Given the description of an element on the screen output the (x, y) to click on. 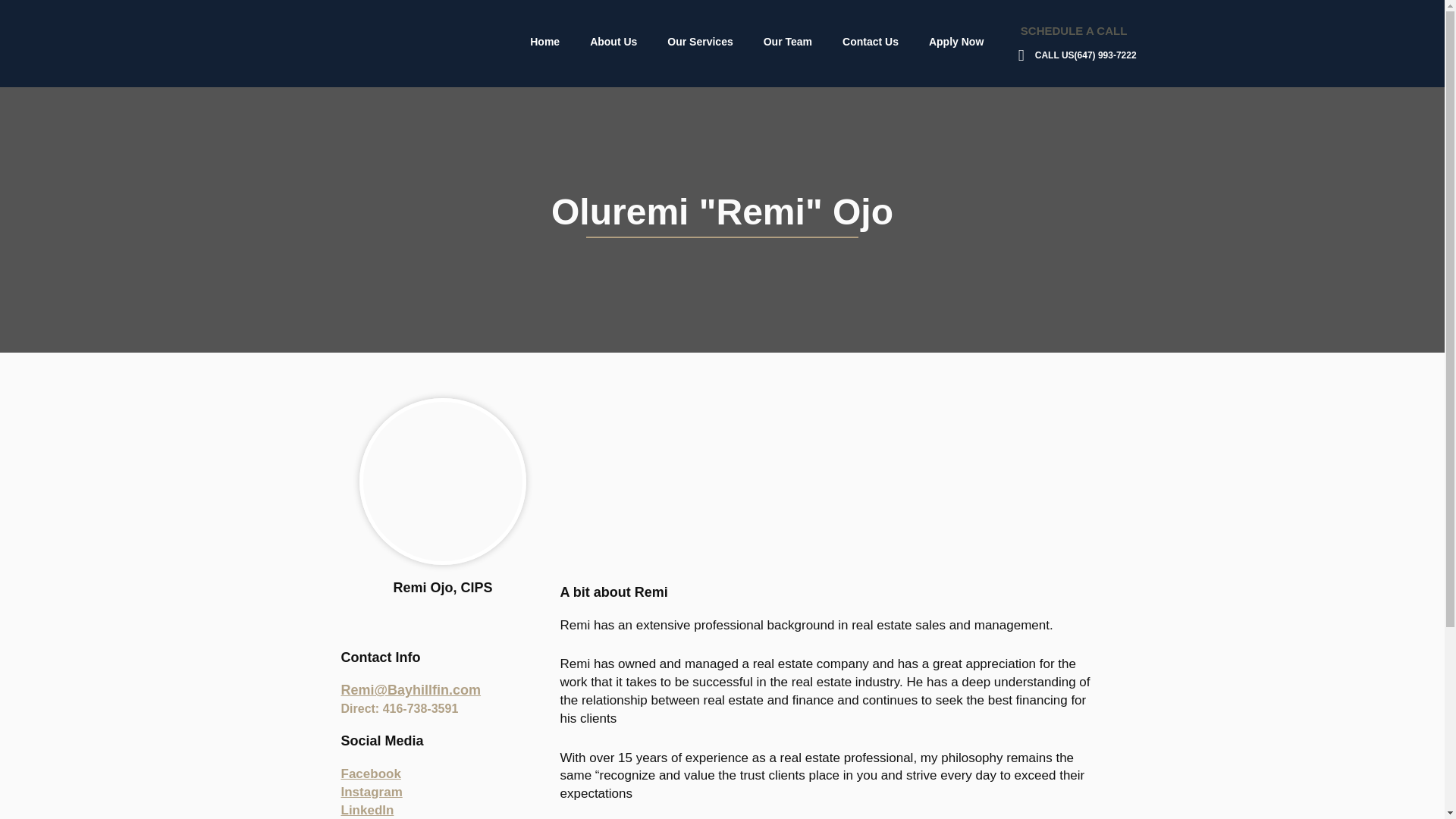
Instagram (371, 791)
LinkedIn (367, 810)
416-738-3591 (420, 707)
Our Team (787, 41)
Contact Us (870, 41)
About Us (613, 41)
SCHEDULE A CALL (1074, 30)
Apply Now (956, 41)
Our Services (700, 41)
Home (545, 41)
